Given the description of an element on the screen output the (x, y) to click on. 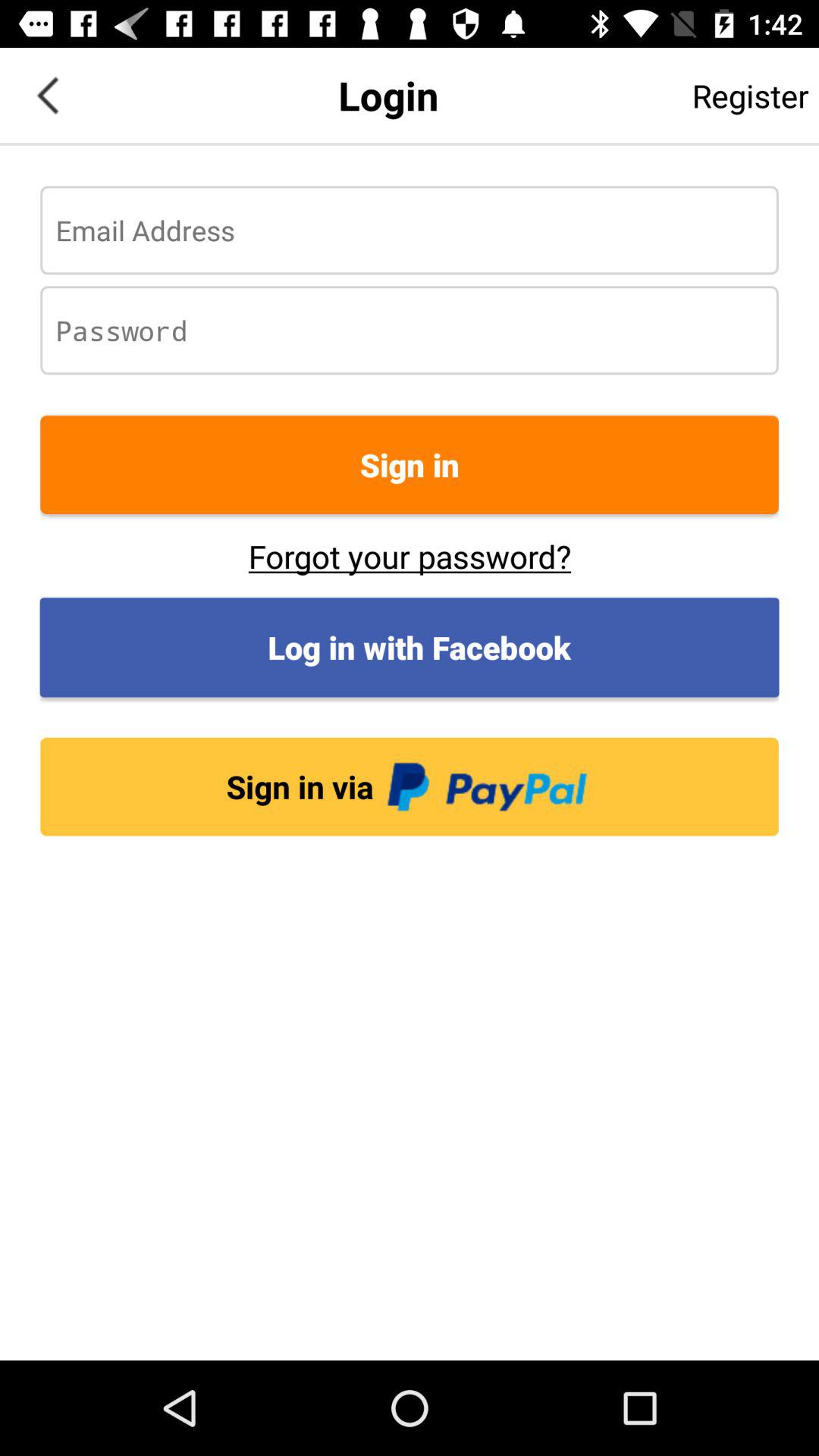
tap the log in with button (409, 647)
